Given the description of an element on the screen output the (x, y) to click on. 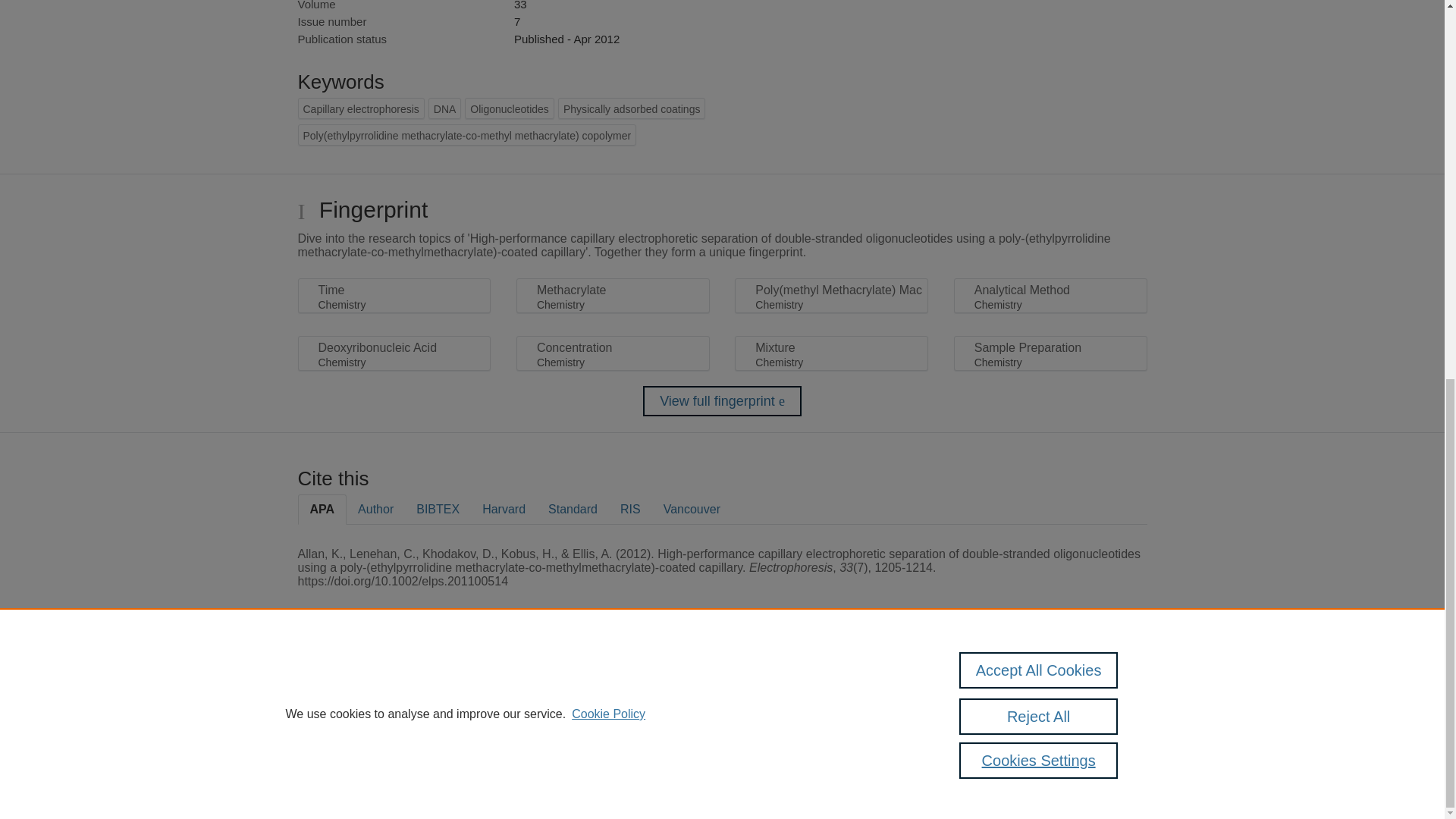
Pure (362, 686)
Log in to ResearchNow (347, 781)
Elsevier B.V. (506, 707)
use of cookies (796, 739)
View full fingerprint (722, 400)
Report vulnerability (1090, 724)
Scopus (394, 686)
Cookies Settings (334, 760)
About web accessibility (1090, 692)
